Given the description of an element on the screen output the (x, y) to click on. 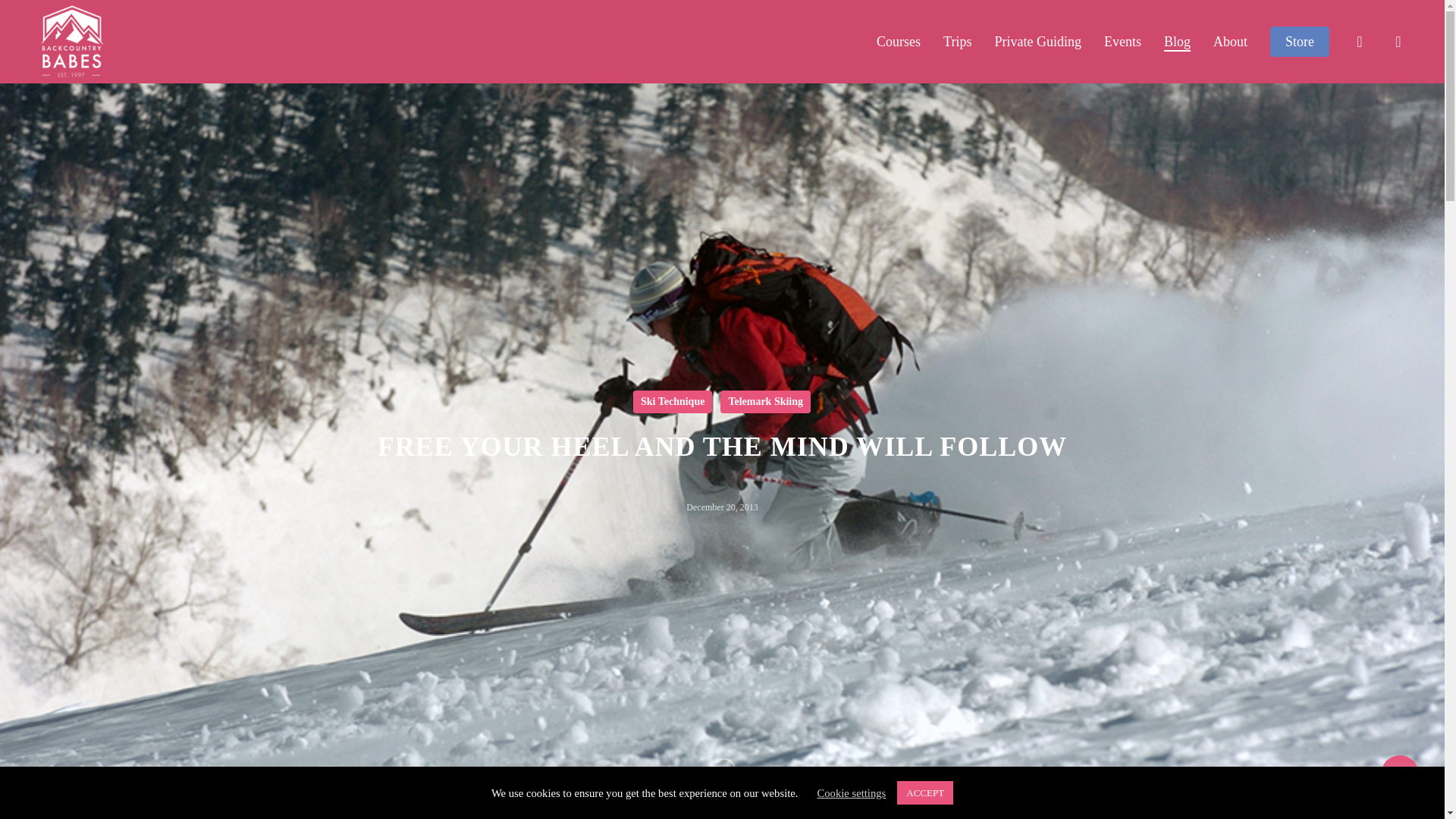
Private Guiding (1037, 41)
About (1229, 41)
Courses (898, 41)
Events (1122, 41)
Trips (957, 41)
Blog (1177, 41)
